Given the description of an element on the screen output the (x, y) to click on. 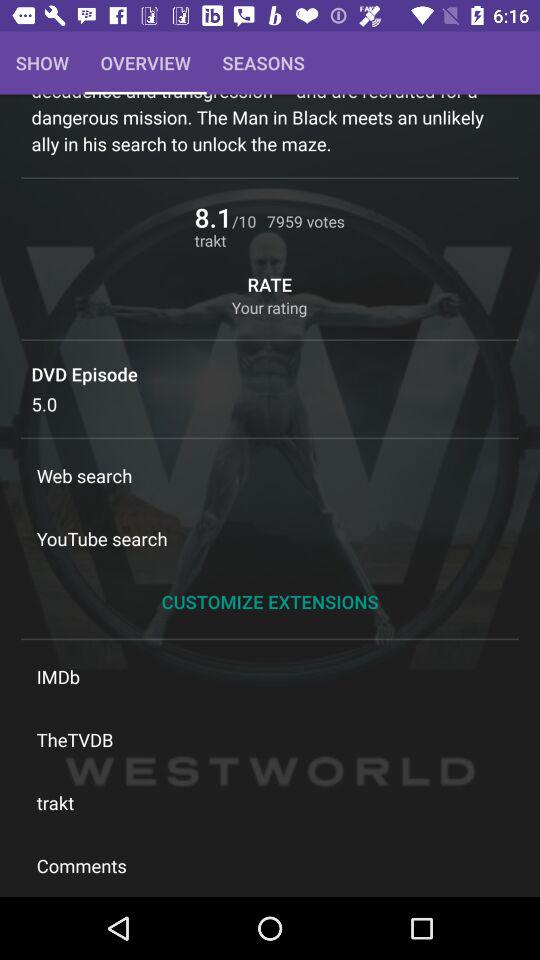
tap item above the youtube search icon (270, 475)
